Given the description of an element on the screen output the (x, y) to click on. 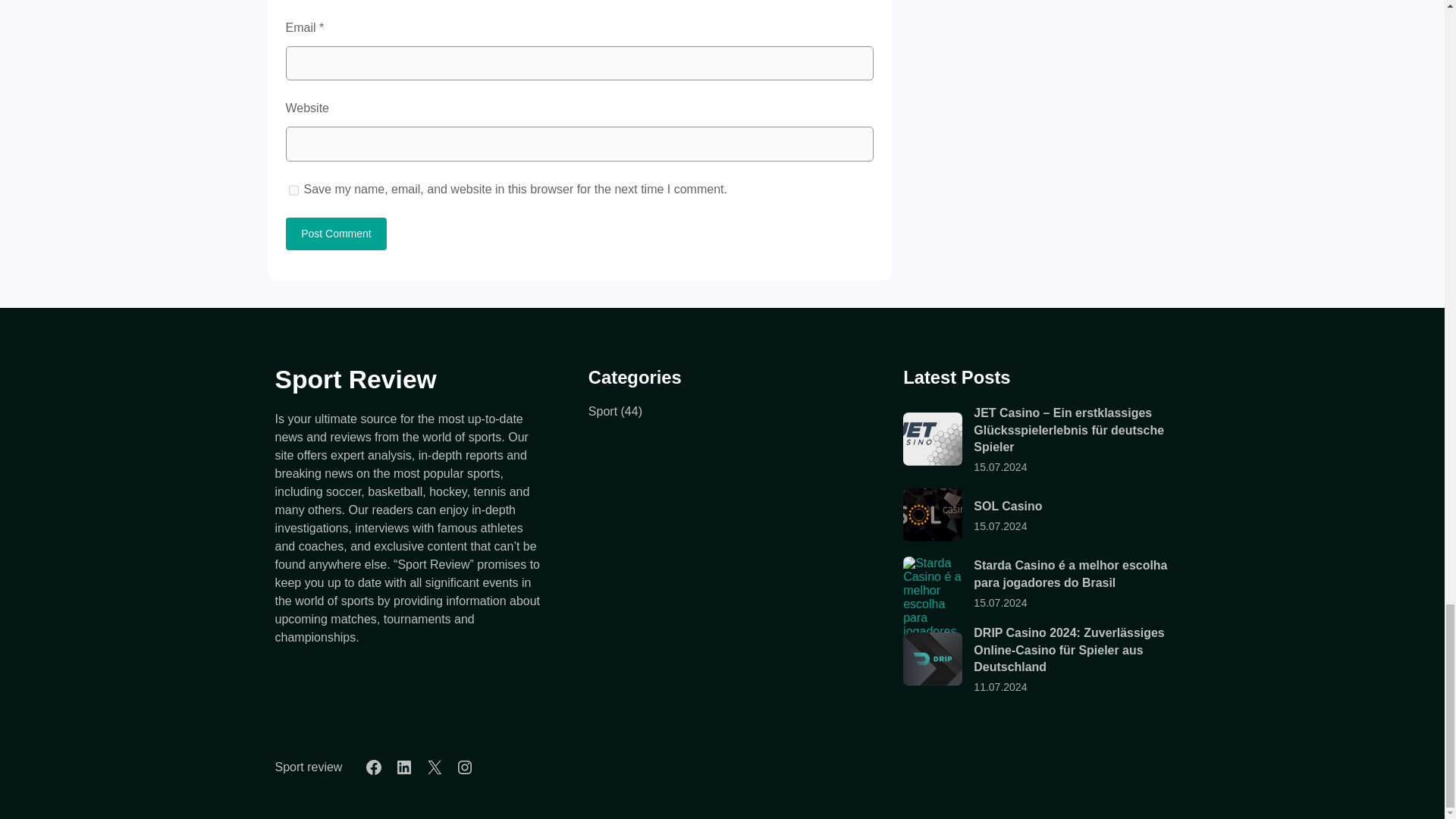
Instagram (465, 767)
SOL Casino (1008, 505)
LinkedIn (403, 767)
Post Comment (336, 233)
Sport (602, 410)
Post Comment (336, 233)
SOL Casino (932, 514)
Facebook (373, 767)
X (434, 767)
